Given the description of an element on the screen output the (x, y) to click on. 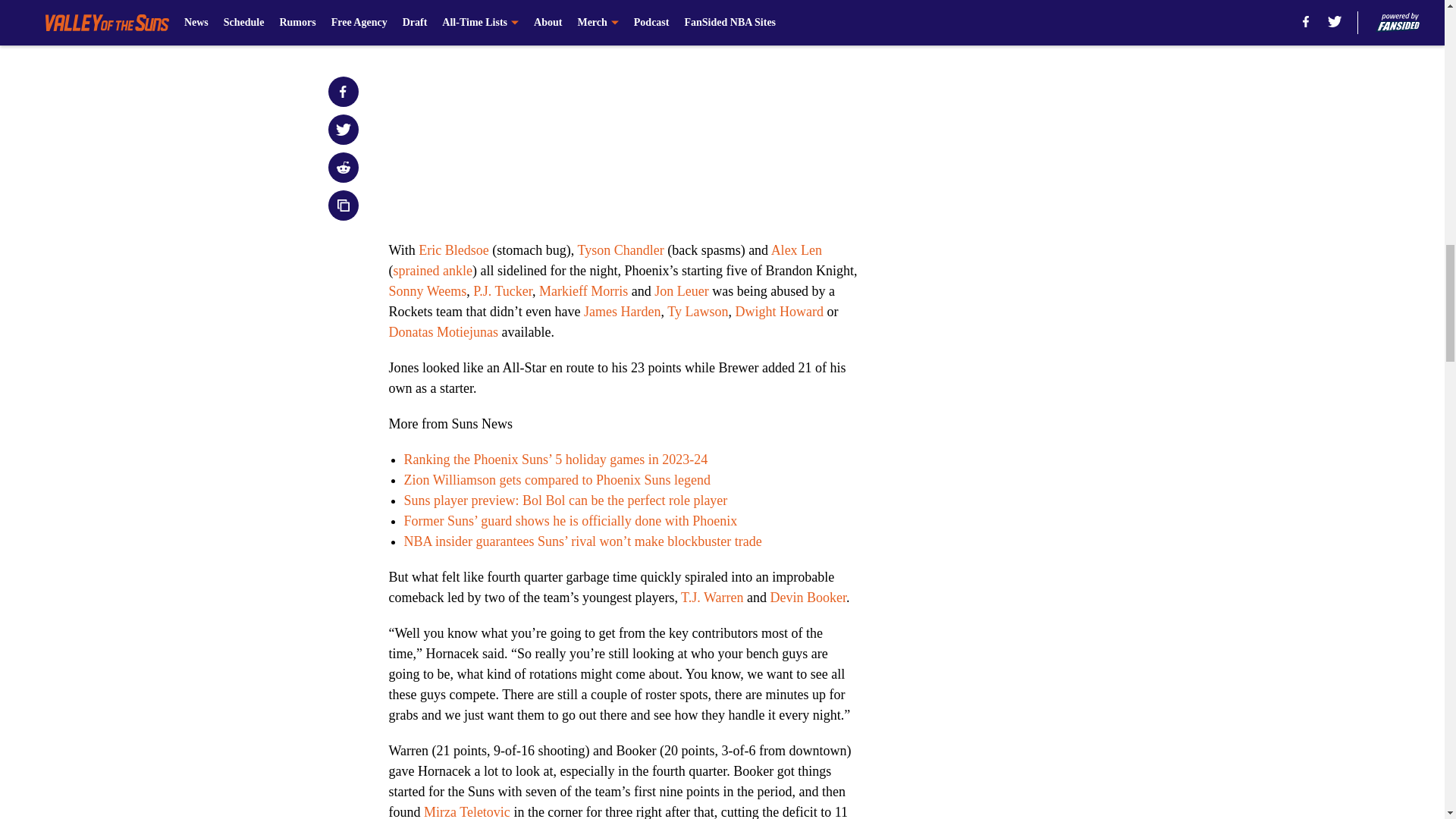
James Harden (622, 311)
Eric Bledsoe (453, 249)
Jon Leuer (680, 290)
Markieff Morris (582, 290)
Tyson Chandler (619, 249)
Alex Len (796, 249)
sprained ankle (432, 270)
P.J. Tucker (502, 290)
Sonny Weems (426, 290)
